Given the description of an element on the screen output the (x, y) to click on. 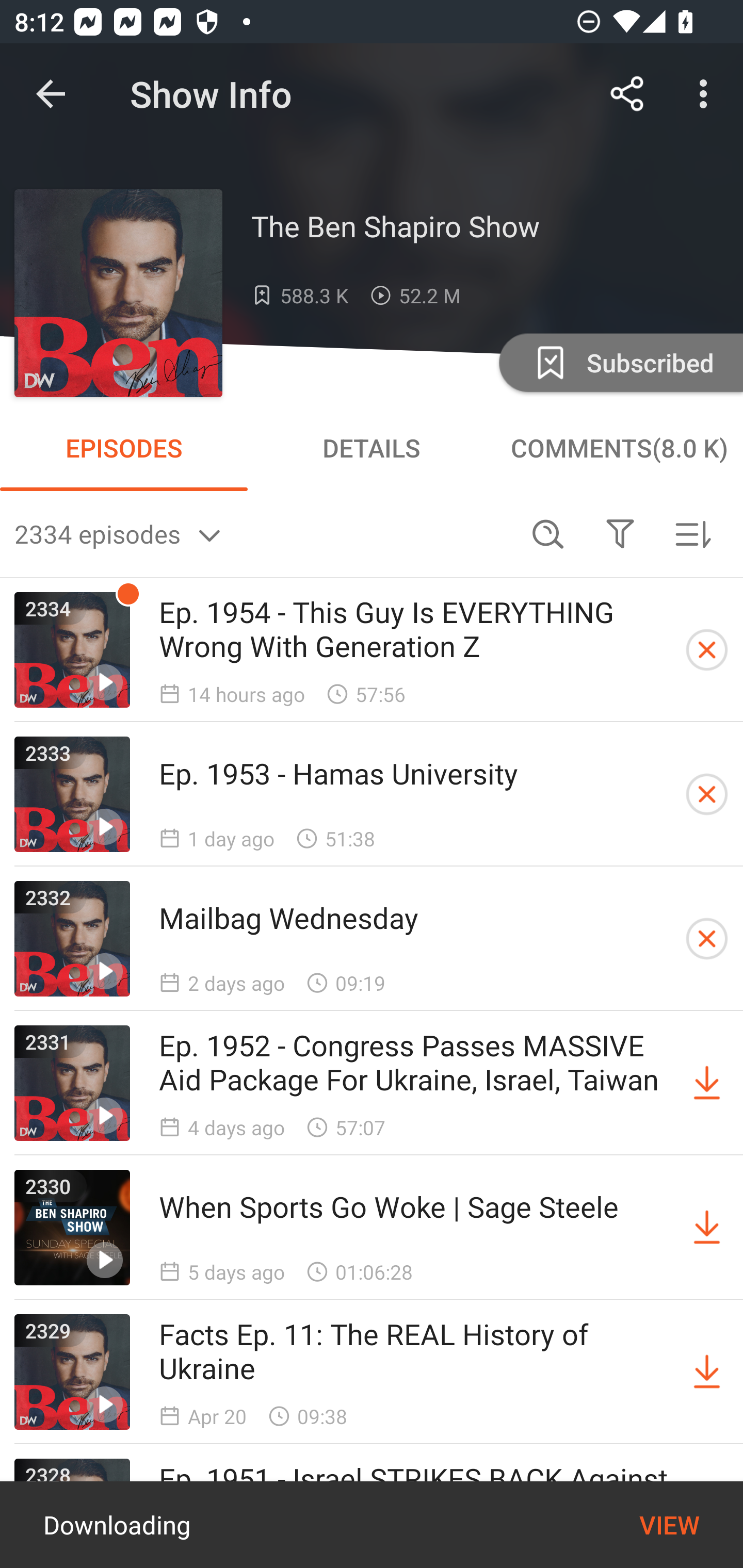
Navigate up (50, 93)
Share (626, 93)
More options (706, 93)
Unsubscribe Subscribed (619, 361)
EPISODES (123, 447)
DETAILS (371, 447)
COMMENTS(8.0 K) (619, 447)
2334 episodes  (262, 533)
 Search (547, 533)
 (619, 533)
 Sorted by newest first (692, 533)
Cancel Downloading (706, 649)
Cancel Downloading (706, 793)
